Given the description of an element on the screen output the (x, y) to click on. 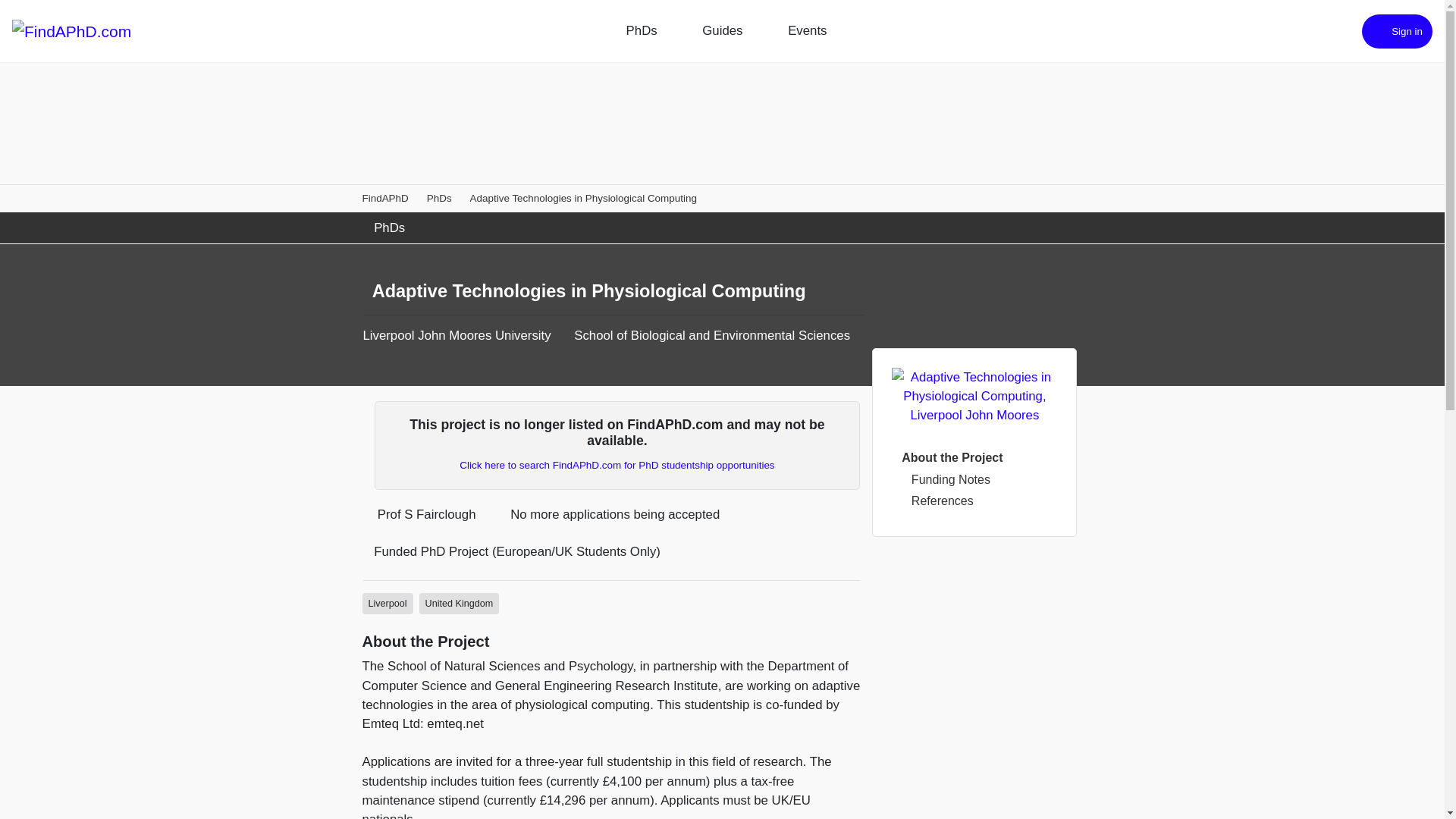
View all PhDs at Liverpool John Moores University (456, 335)
FindAPhD (385, 197)
FindAPhD.com (71, 30)
Search FindAPhD.com for PhD projects (617, 464)
